Given the description of an element on the screen output the (x, y) to click on. 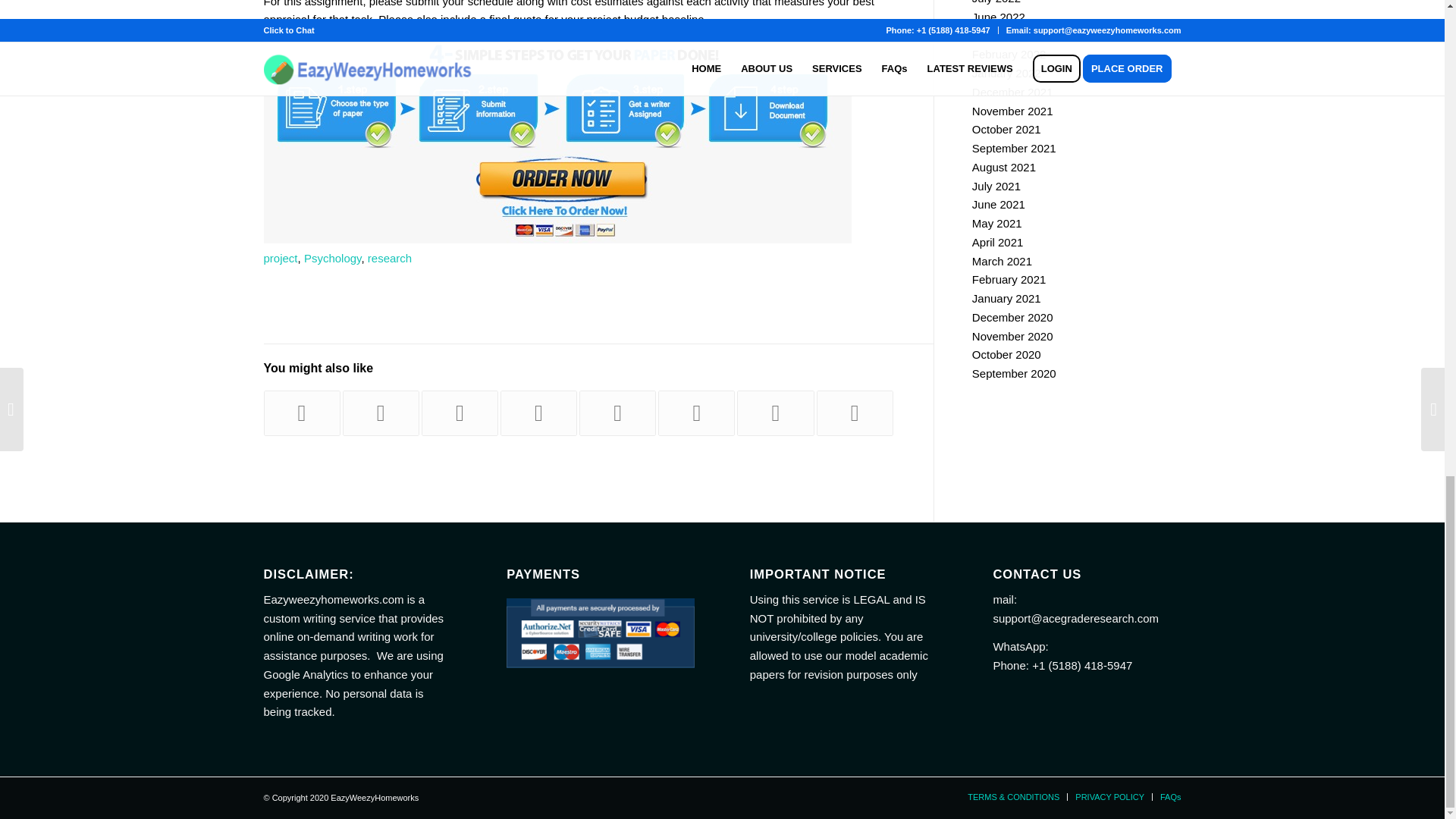
An outline on Je Suis Charlie (459, 412)
Sociology homework help (301, 412)
Strengths and Weaknesses of Research Methods (617, 412)
Intelligence tests and cultural bias discussion board (854, 412)
research (390, 257)
Psychology discussion and replies (538, 412)
Aristotles Concept of Virtue (774, 412)
project (280, 257)
Psychology (332, 257)
Unfair employee discharge homework (380, 412)
Quantitative Research Design (696, 412)
